Given the description of an element on the screen output the (x, y) to click on. 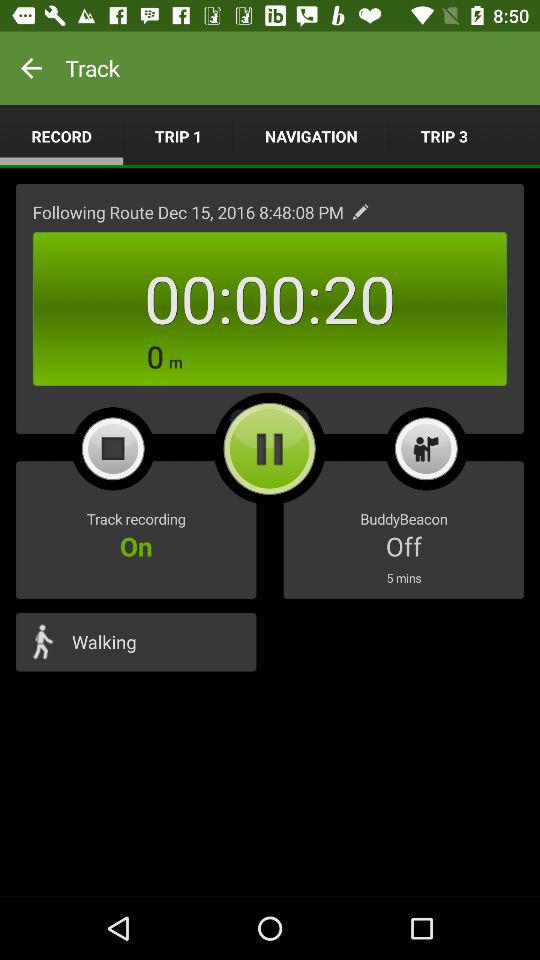
press item next to the navigation (178, 136)
